Given the description of an element on the screen output the (x, y) to click on. 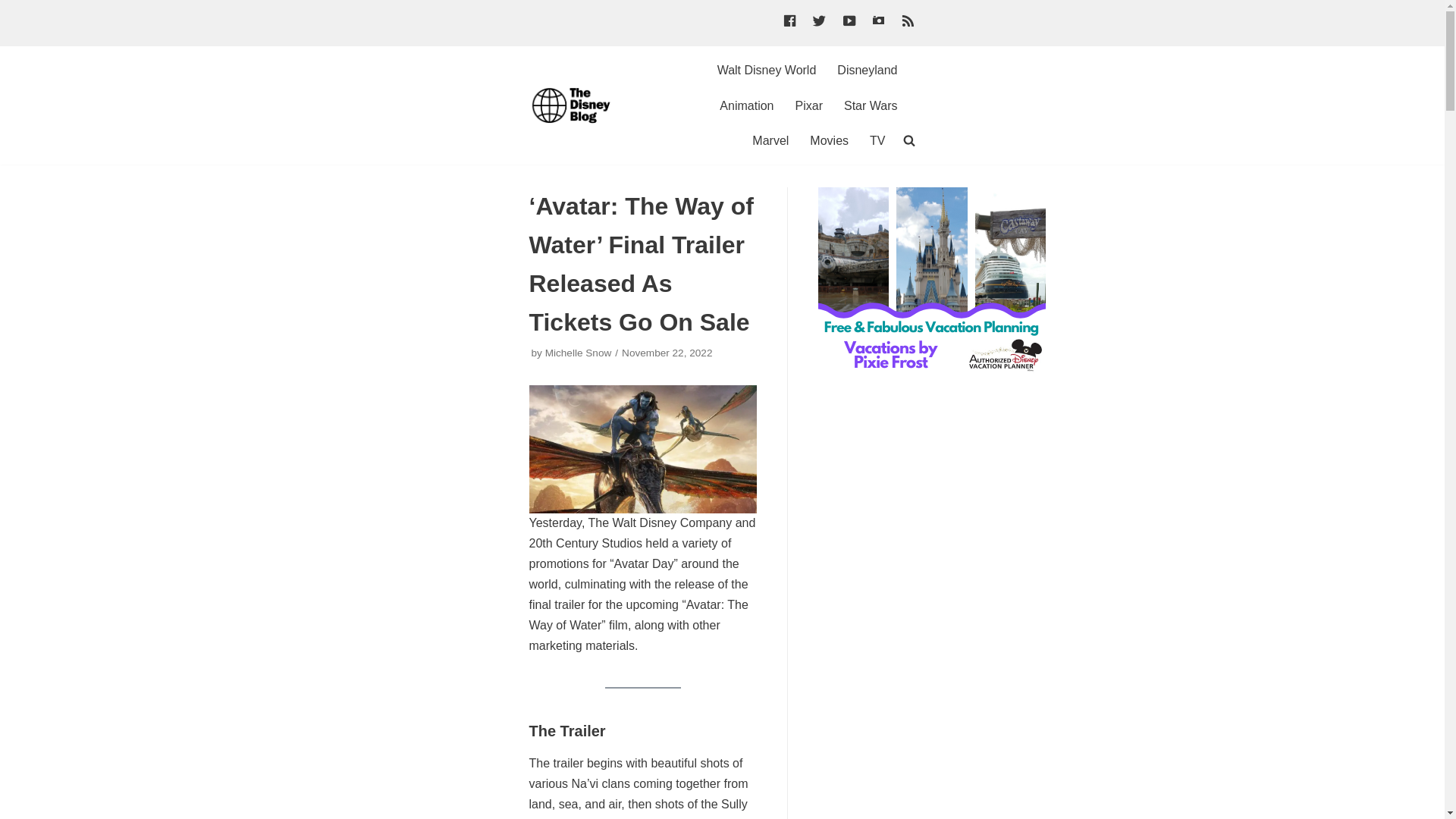
Posts by Michelle Snow (577, 352)
Star Wars (871, 105)
Animation (746, 105)
Pixar (808, 105)
Marvel (770, 140)
Michelle Snow (577, 352)
The Disney Blog (574, 104)
Movies (828, 140)
Skip to content (15, 7)
Walt Disney World (766, 69)
